Given the description of an element on the screen output the (x, y) to click on. 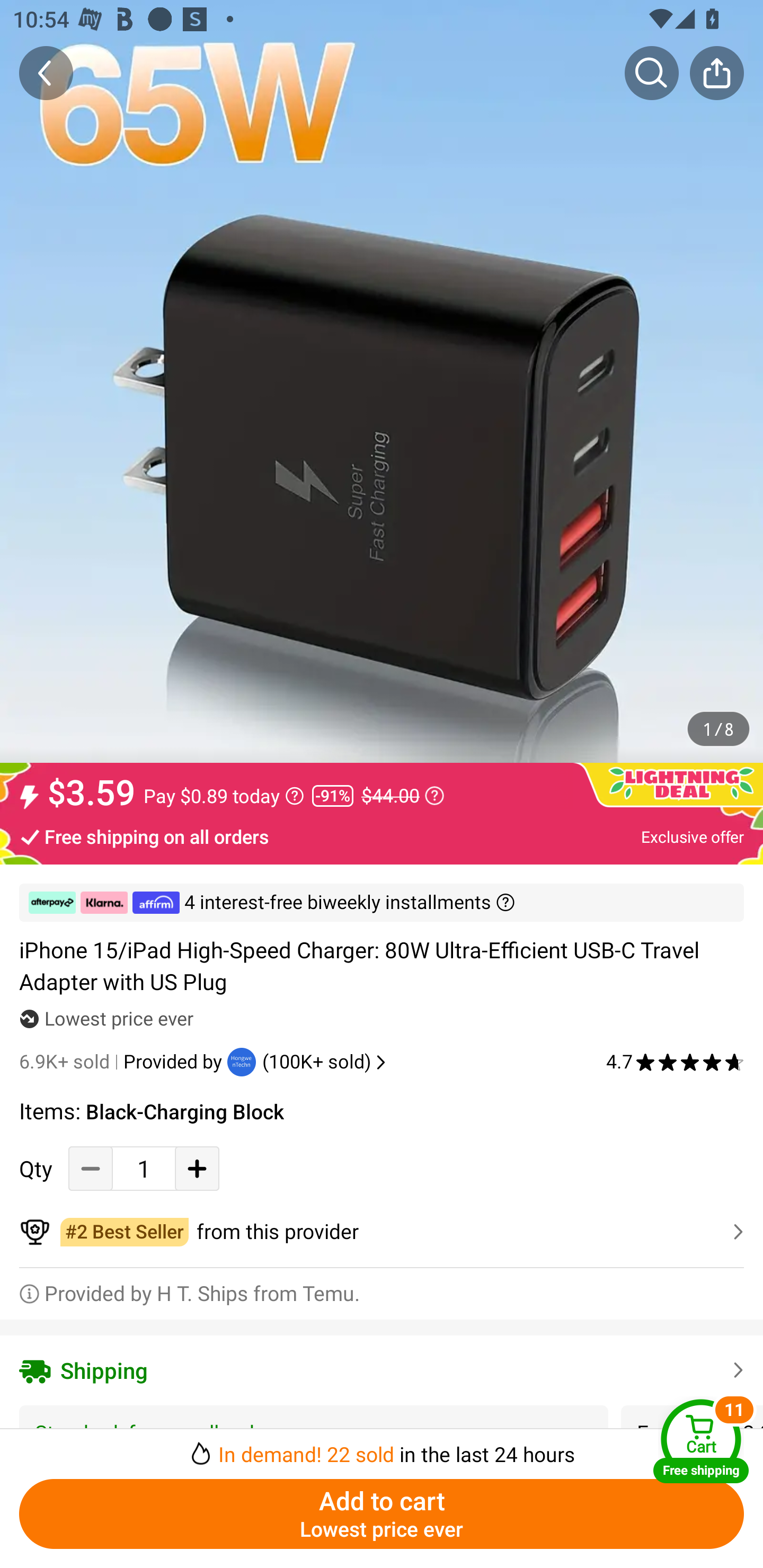
Back (46, 72)
Share (716, 72)
Pay $0.89 today   (223, 795)
Free shipping on all orders Exclusive offer (381, 836)
￼ ￼ ￼ 4 interest-free biweekly installments ￼ (381, 902)
6.9K+ sold Provided by  (123, 1061)
4.7 (674, 1061)
Decrease Quantity Button (90, 1168)
1 (143, 1168)
Add Quantity button (196, 1168)
￼￼from this provider (381, 1231)
Shipping (381, 1369)
Cart Free shipping Cart (701, 1440)
￼￼In demand! 22 sold in the last 24 hours (381, 1448)
Add to cart Lowest price ever (381, 1513)
